Given the description of an element on the screen output the (x, y) to click on. 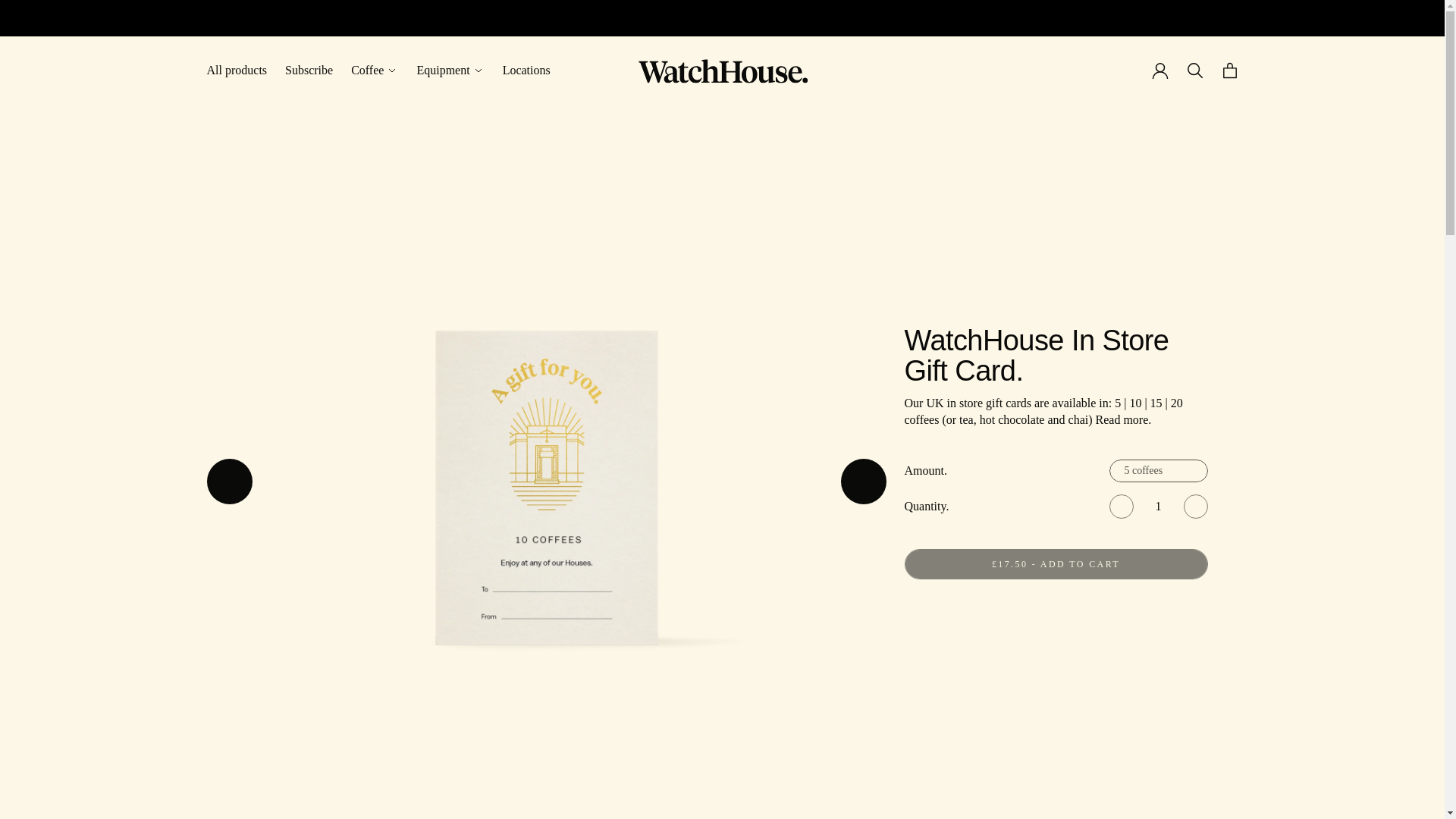
Coffee (373, 70)
1 (1157, 506)
Subscribe (309, 70)
Equipment (449, 70)
All products (236, 70)
Locations (526, 70)
Skip to content (215, 70)
